Given the description of an element on the screen output the (x, y) to click on. 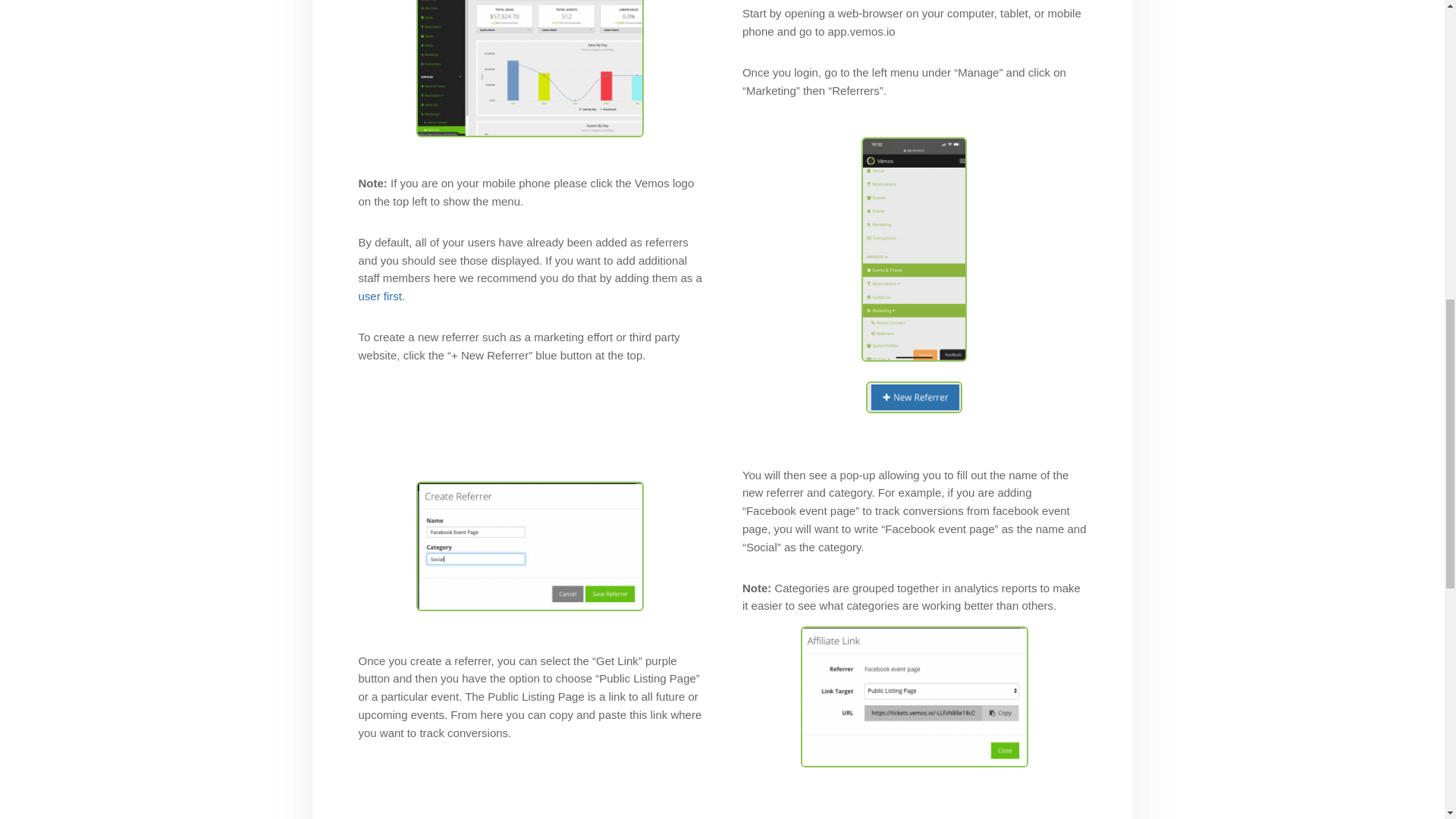
Screen-Shot-2020-01-21-at-10.36.09-AM (914, 397)
Screen-Shot-2020-01-21-at-10.37.11-AM-300x169 (529, 545)
Screen-Shot-2020-01-21-at-10.35.15-AM-300x208 (529, 68)
Screen-Shot-2020-01-21-at-10.38.20-AM-300x184 (913, 696)
